Given the description of an element on the screen output the (x, y) to click on. 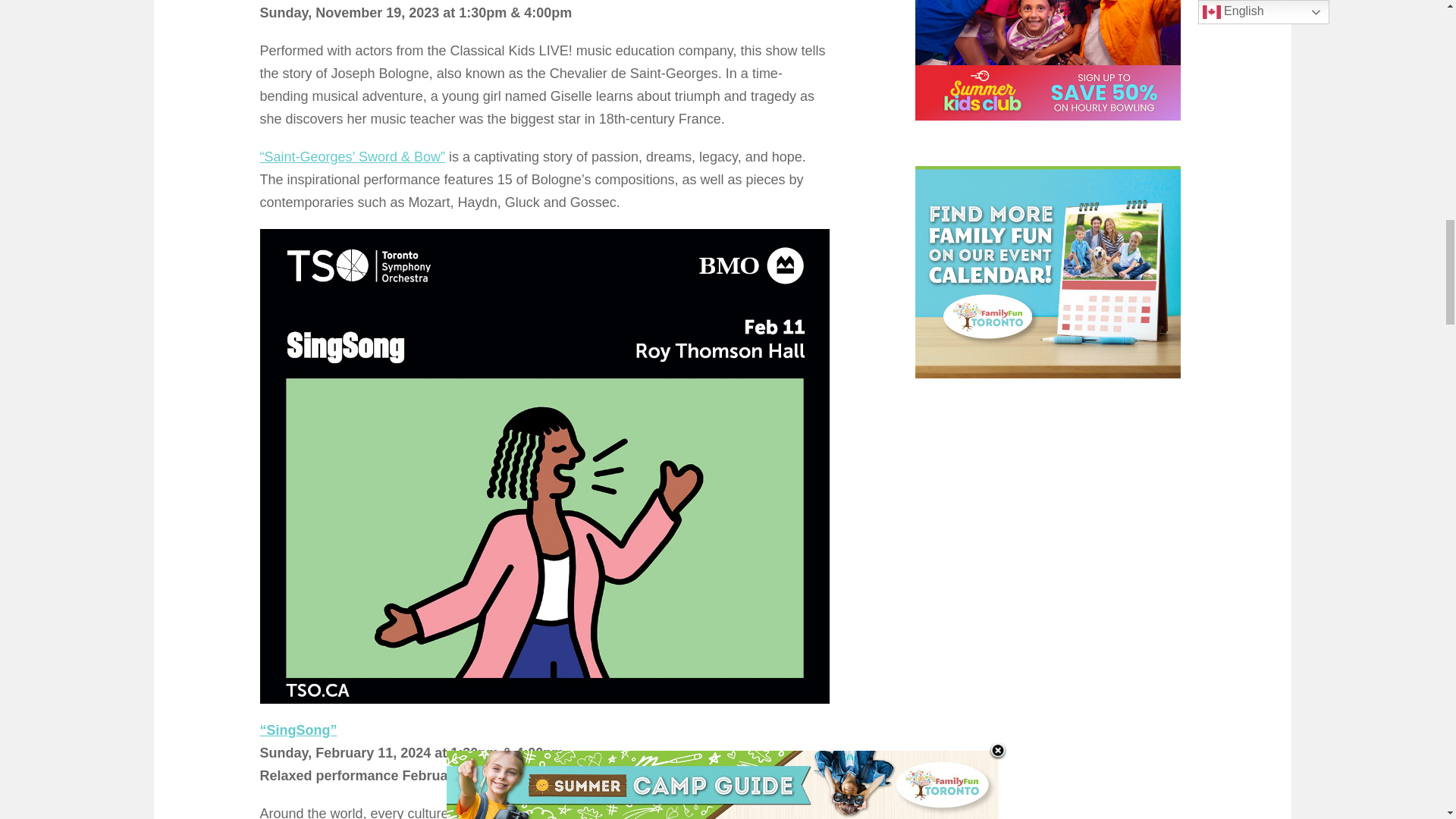
Splitsville Summer Kids Club (1047, 60)
